Given the description of an element on the screen output the (x, y) to click on. 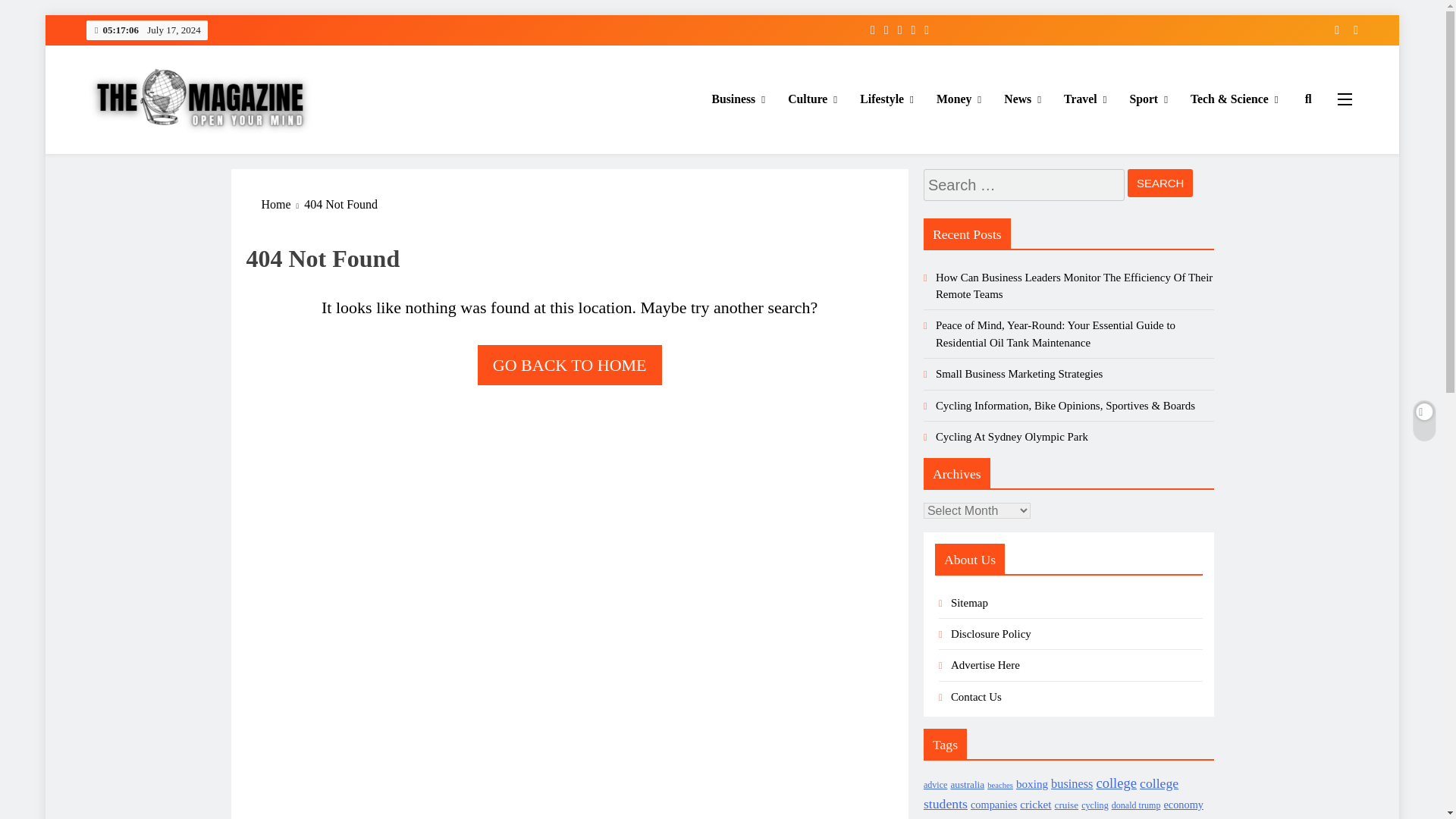
Search (1159, 182)
The Word Magazine (186, 155)
Search (1159, 182)
Lifestyle (886, 99)
Business (738, 99)
Culture (812, 99)
